Given the description of an element on the screen output the (x, y) to click on. 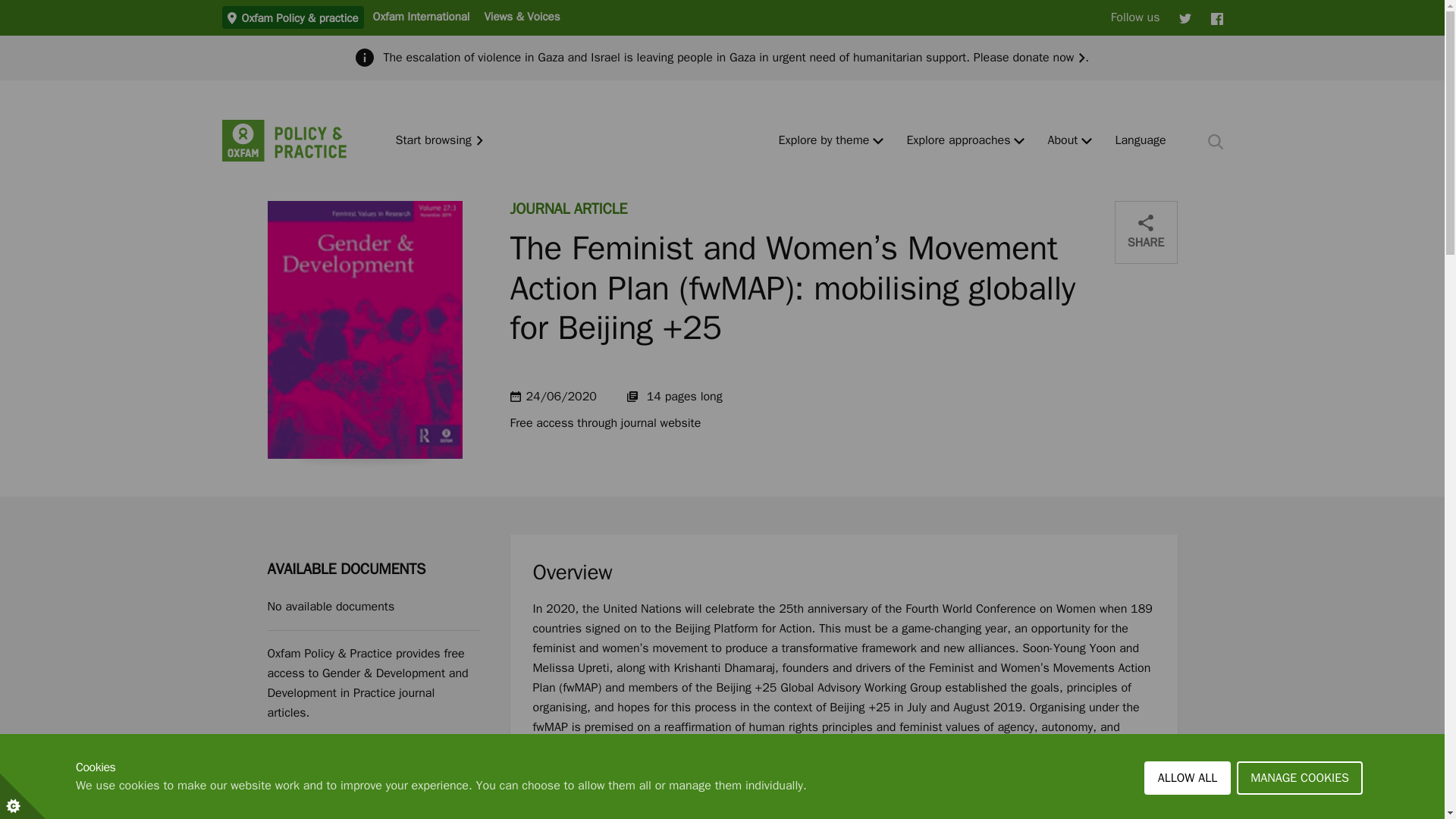
donate now (1047, 57)
Oxfam International (420, 16)
Menu toggle (1086, 141)
Menu toggle (1019, 141)
Menu toggle (877, 141)
Search (1215, 140)
Explore approaches (957, 140)
Twitter (1184, 17)
English (1140, 140)
Skip to content (11, 5)
Download from publisher (366, 773)
MANAGE COOKIES (1299, 807)
Start browsing (439, 140)
About (1061, 140)
Facebook (1216, 17)
